Given the description of an element on the screen output the (x, y) to click on. 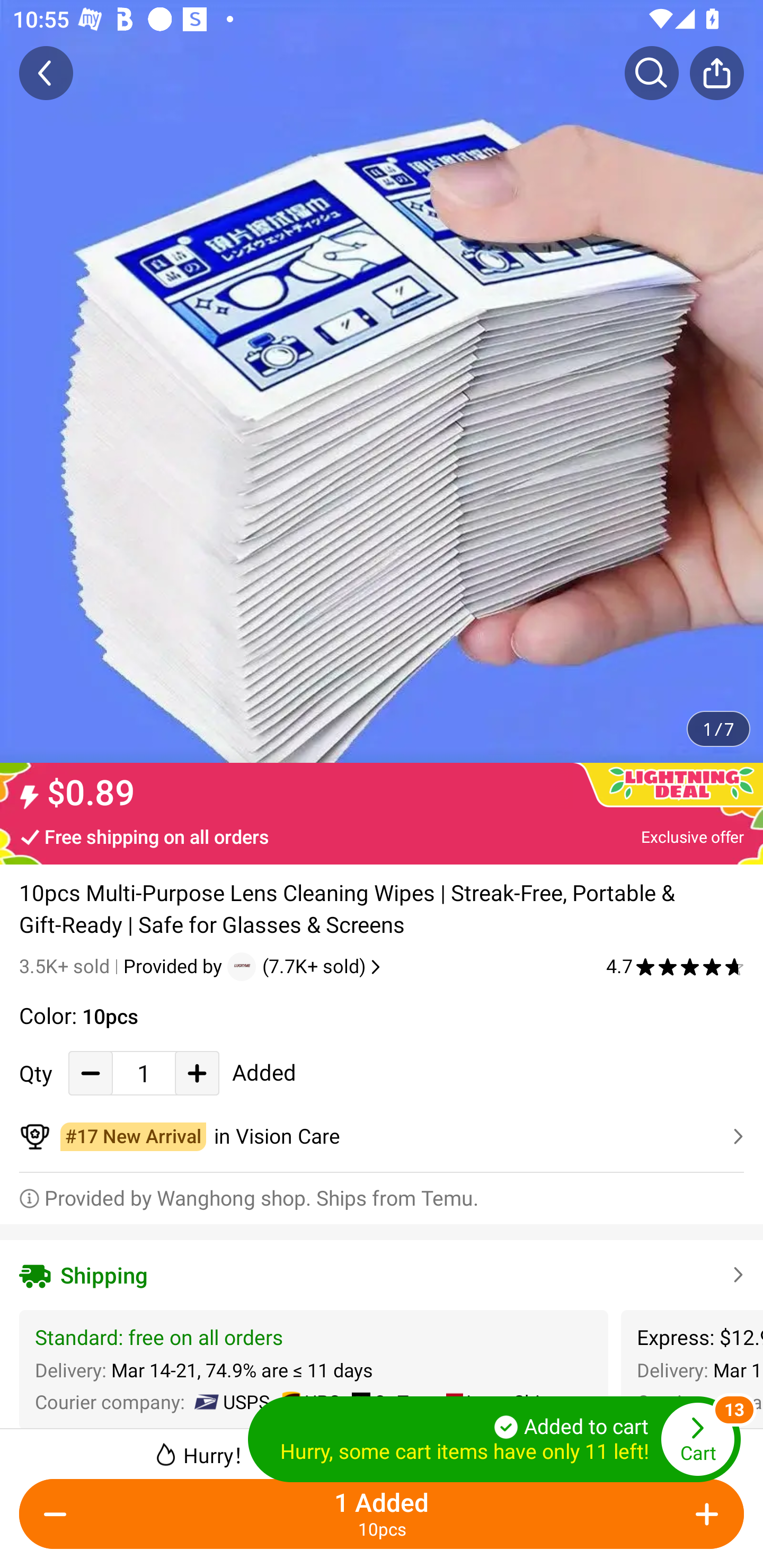
Back (46, 72)
Share (716, 72)
Free shipping on all orders Exclusive offer (381, 836)
3.5K+ sold Provided by  (123, 966)
4.7 (674, 966)
Decrease Quantity Button (90, 1073)
1 (143, 1073)
Add Quantity button (196, 1073)
￼￼in Vision Care (381, 1136)
Shipping (381, 1274)
Decrease Quantity Button (59, 1513)
Add Quantity button (703, 1513)
